Given the description of an element on the screen output the (x, y) to click on. 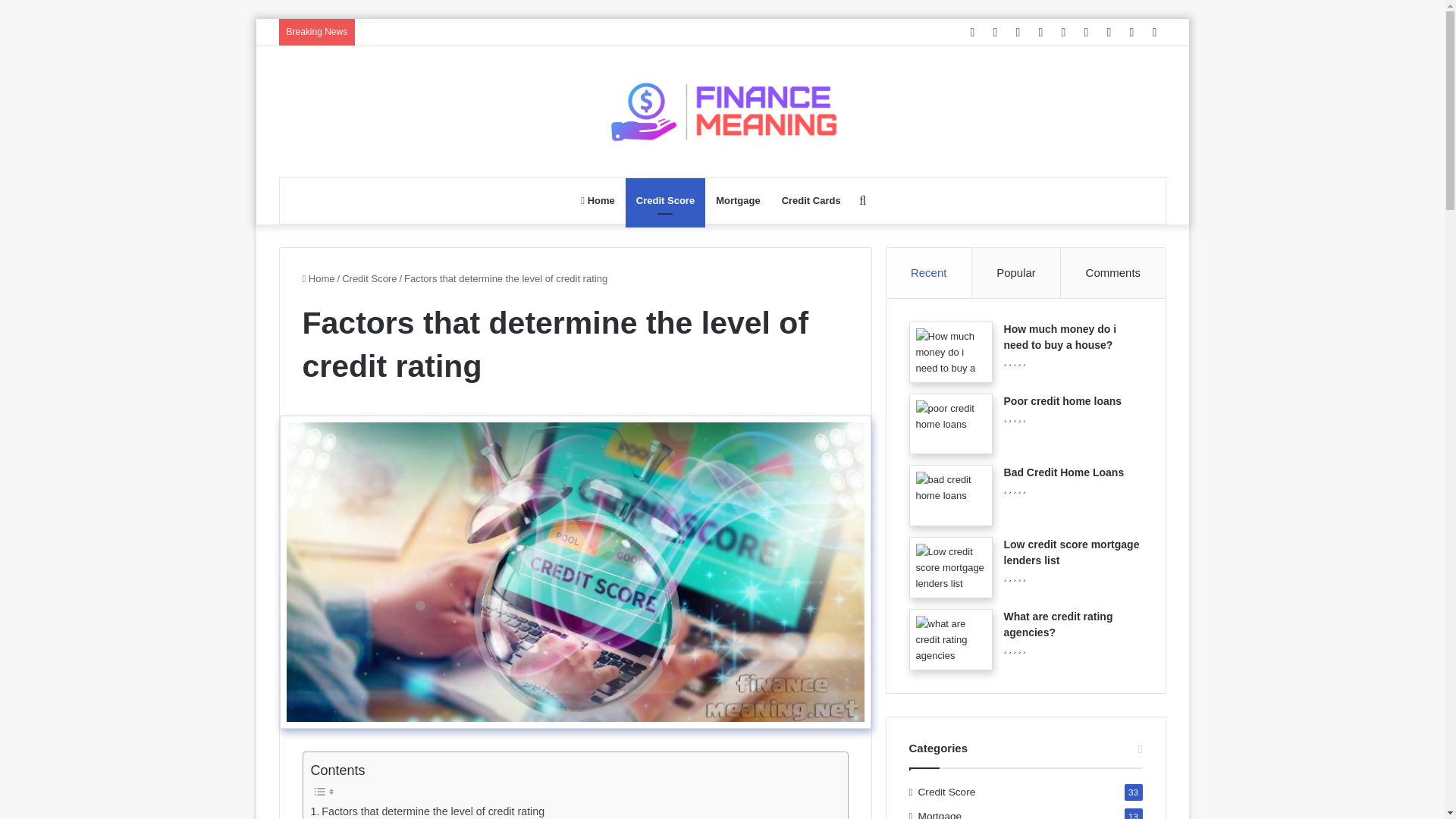
Factors that determine the level of credit rating (427, 811)
Factors that determine the level of credit rating (427, 811)
Home (597, 200)
Credit Score (369, 278)
Credit Score (665, 200)
Home (317, 278)
Finance Meaning (722, 111)
Mortgage (737, 200)
Credit Cards (811, 200)
